Given the description of an element on the screen output the (x, y) to click on. 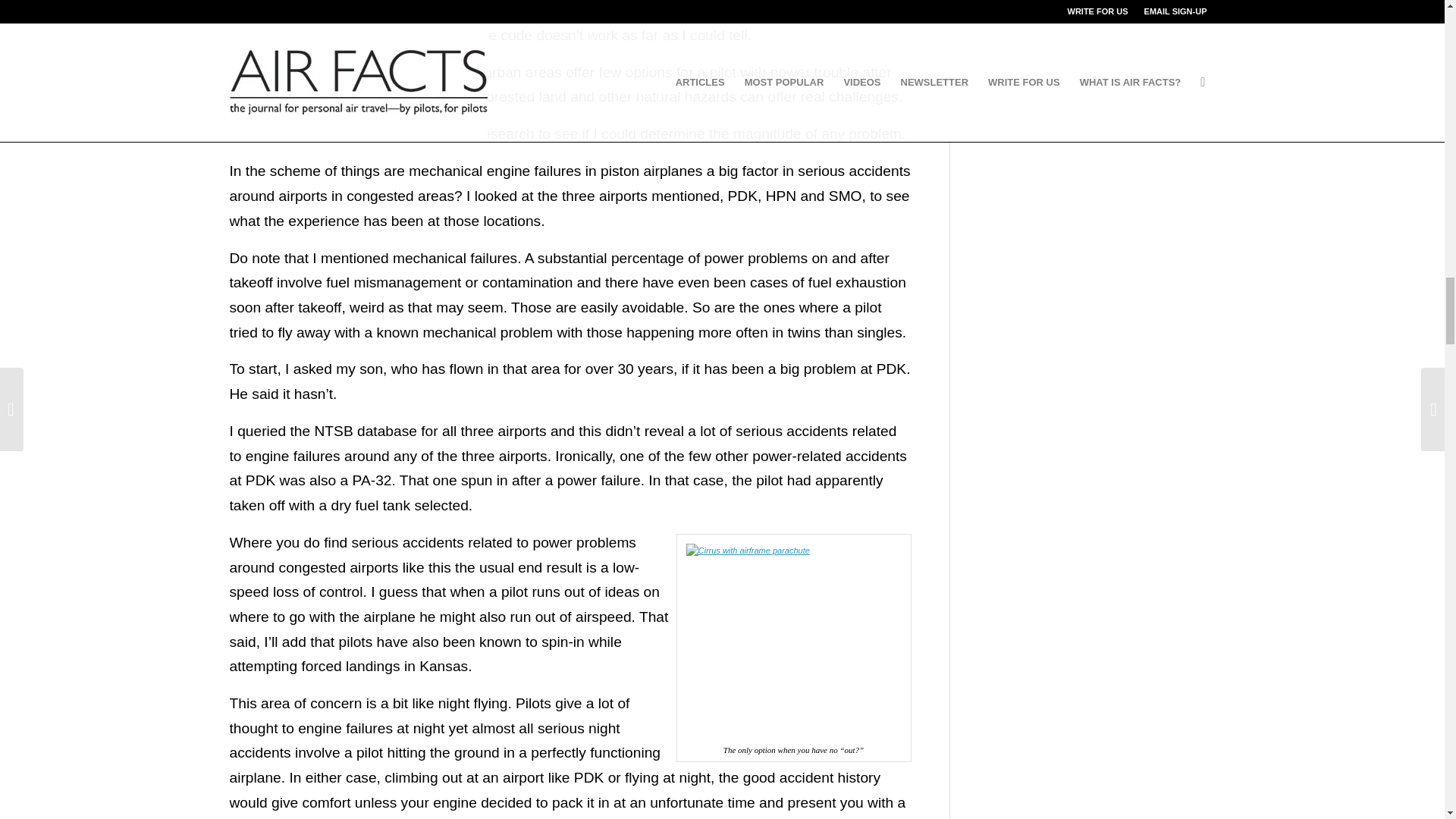
Google Earth (759, 10)
